Given the description of an element on the screen output the (x, y) to click on. 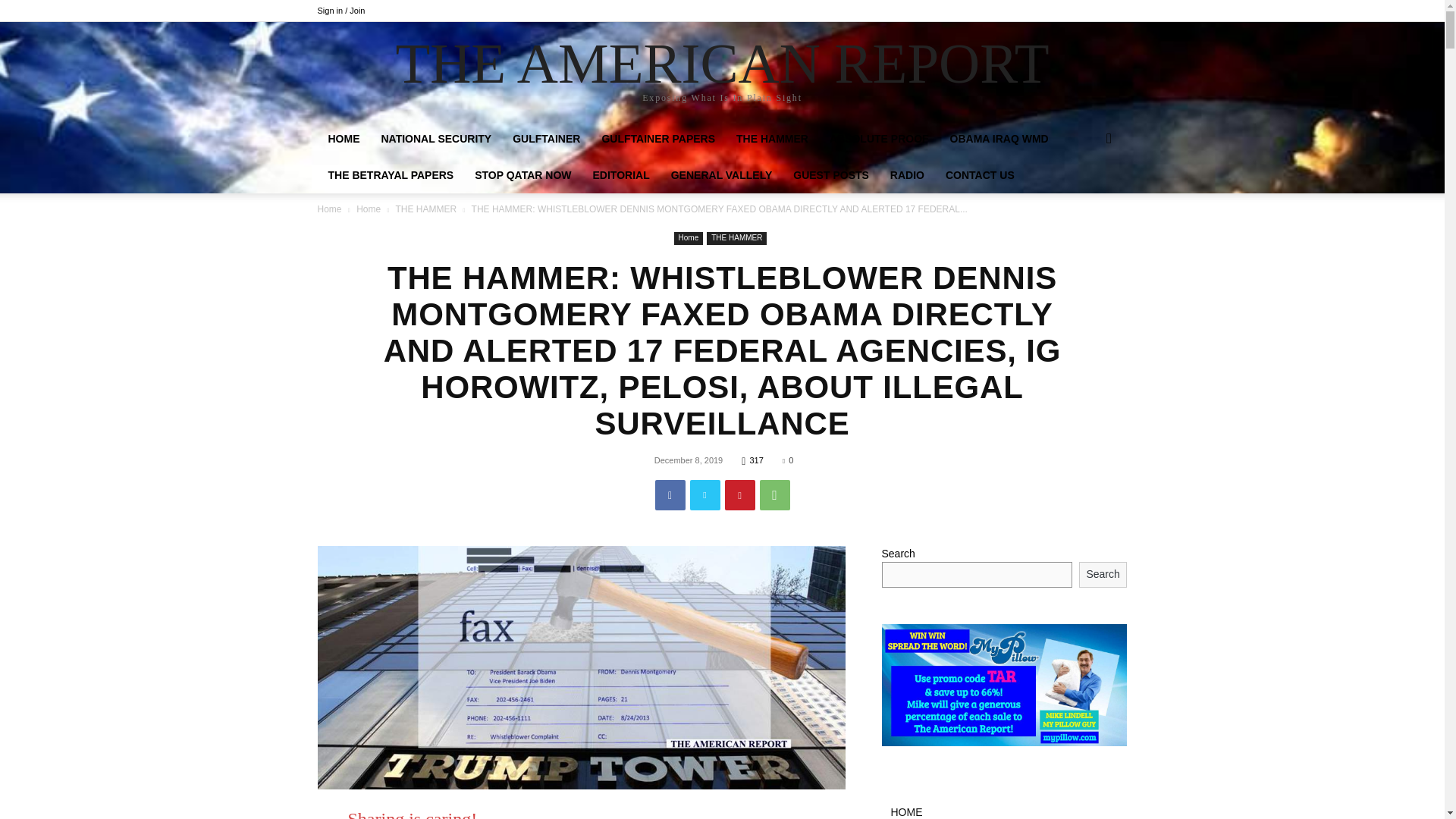
NATIONAL SECURITY (435, 138)
HOME (343, 138)
View all posts in THE HAMMER (426, 208)
Facebook (670, 494)
Radio (906, 175)
GULFTAINER PAPERS (658, 138)
Pinterest (740, 494)
THE HAMMER (771, 138)
THE BETRAYAL PAPERS (390, 175)
ABSOLUTE PROOF (878, 138)
Twitter (705, 494)
THE AMERICAN REPORT Exposing What Is In Plain Sight (722, 72)
WhatsApp (775, 494)
OBAMA IRAQ WMD (999, 138)
